Given the description of an element on the screen output the (x, y) to click on. 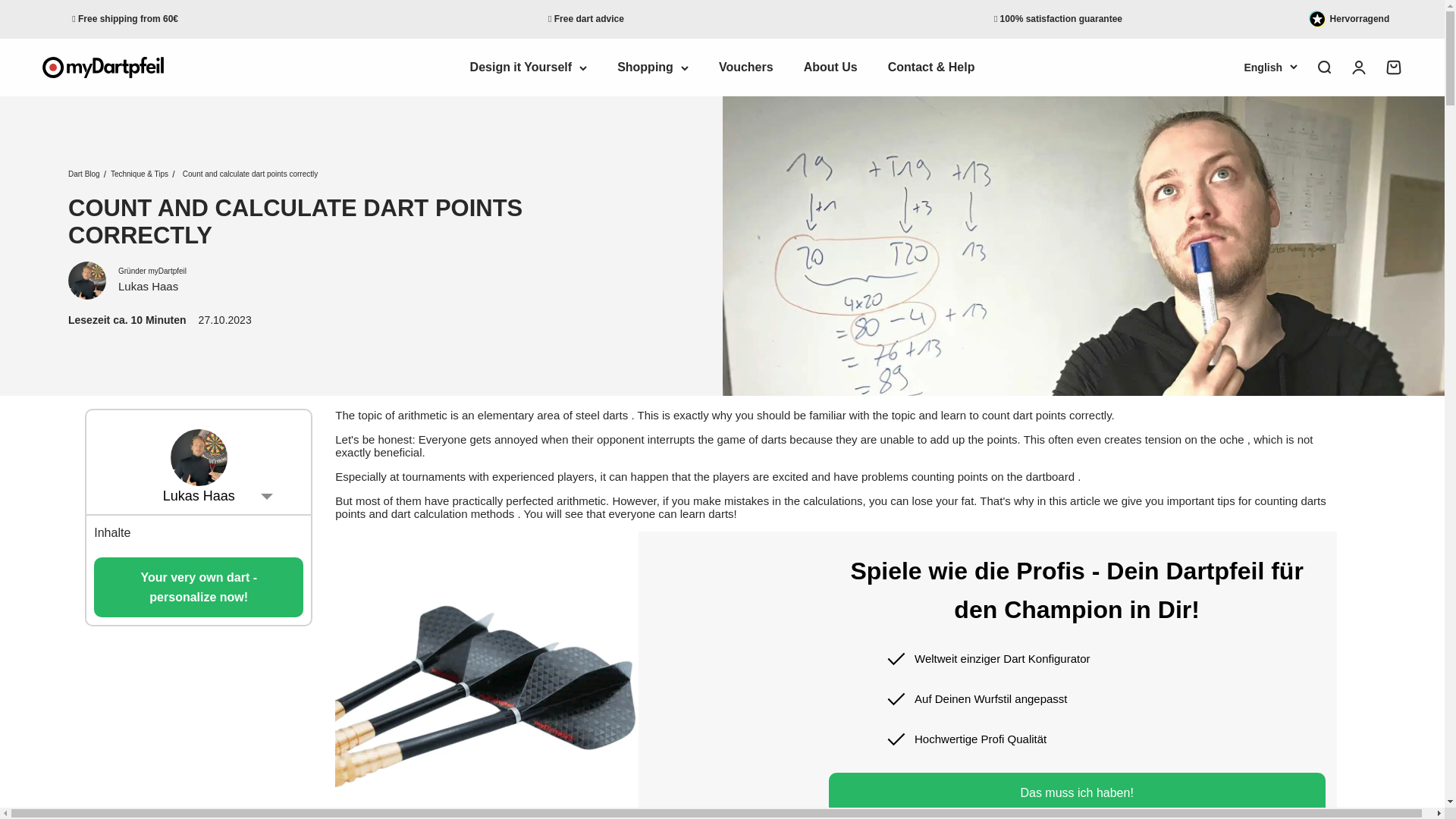
myDartpfeil (102, 66)
Your very own dart - personalize now! (198, 587)
English (1270, 67)
About Us (830, 66)
Vouchers (746, 66)
Hervorragend (1363, 18)
